Given the description of an element on the screen output the (x, y) to click on. 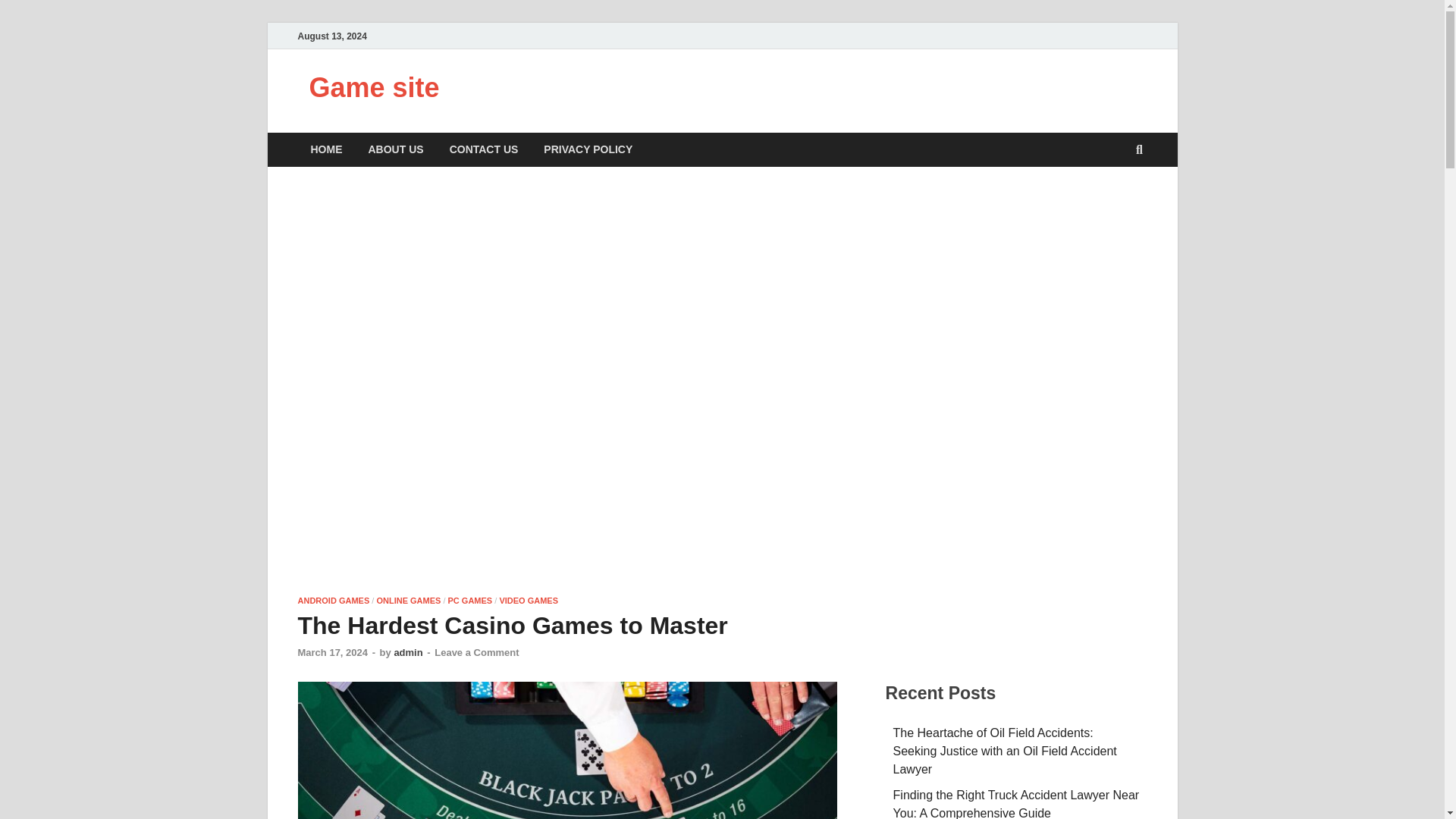
CONTACT US (483, 149)
Leave a Comment (475, 652)
ABOUT US (395, 149)
PRIVACY POLICY (588, 149)
admin (407, 652)
Game site (373, 87)
PC GAMES (470, 600)
March 17, 2024 (332, 652)
VIDEO GAMES (528, 600)
